Given the description of an element on the screen output the (x, y) to click on. 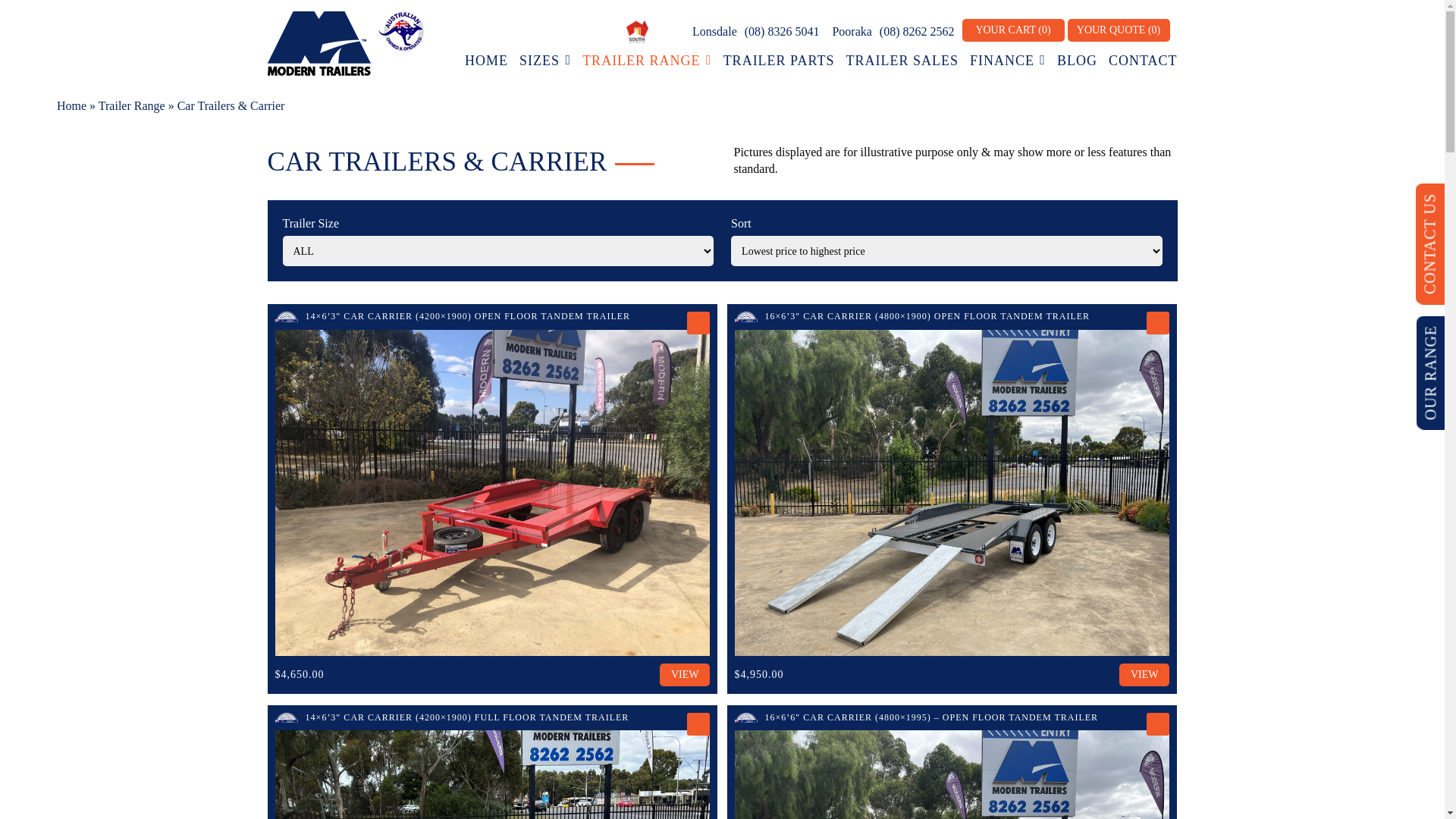
Compare Element type: hover (698, 723)
Compare Element type: hover (1157, 322)
(08) 8326 5041 Element type: text (781, 31)
VIEW Element type: text (684, 674)
VIEW Element type: text (1144, 674)
$4,650.00 Element type: text (299, 674)
Compare Element type: hover (698, 322)
(08) 8262 2562 Element type: text (916, 31)
SIZES Element type: text (545, 60)
Lonsdale Element type: text (713, 31)
YOUR CART (0) Element type: text (1012, 29)
TRAILER RANGE Element type: text (647, 60)
FINANCE Element type: text (1007, 60)
HOME Element type: text (486, 60)
Pooraka Element type: text (850, 31)
YOUR QUOTE (0) Element type: text (1118, 29)
Trailer Range Element type: text (131, 105)
$4,950.00 Element type: text (759, 674)
Compare Element type: hover (1157, 723)
CONTACT Element type: text (1142, 60)
TRAILER PARTS Element type: text (778, 60)
BLOG Element type: text (1077, 60)
Home Element type: text (71, 105)
TRAILER SALES Element type: text (901, 60)
